Given the description of an element on the screen output the (x, y) to click on. 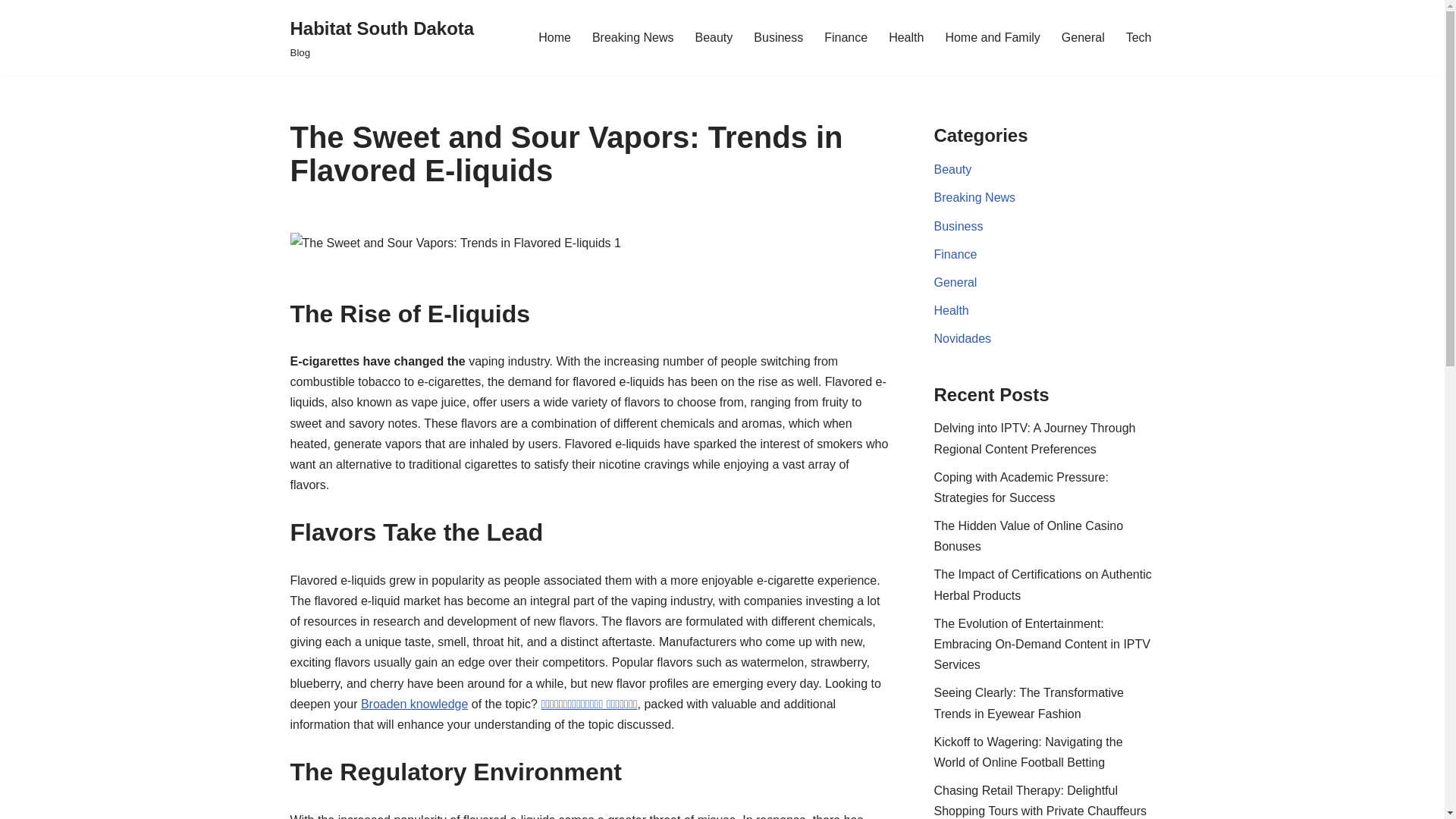
The Hidden Value of Online Casino Bonuses (1029, 535)
Seeing Clearly: The Transformative Trends in Eyewear Fashion (1029, 702)
General (955, 282)
Skip to content (11, 31)
Beauty (713, 37)
Coping with Academic Pressure: Strategies for Success (381, 37)
Broaden knowledge (1021, 487)
Breaking News (414, 703)
